Given the description of an element on the screen output the (x, y) to click on. 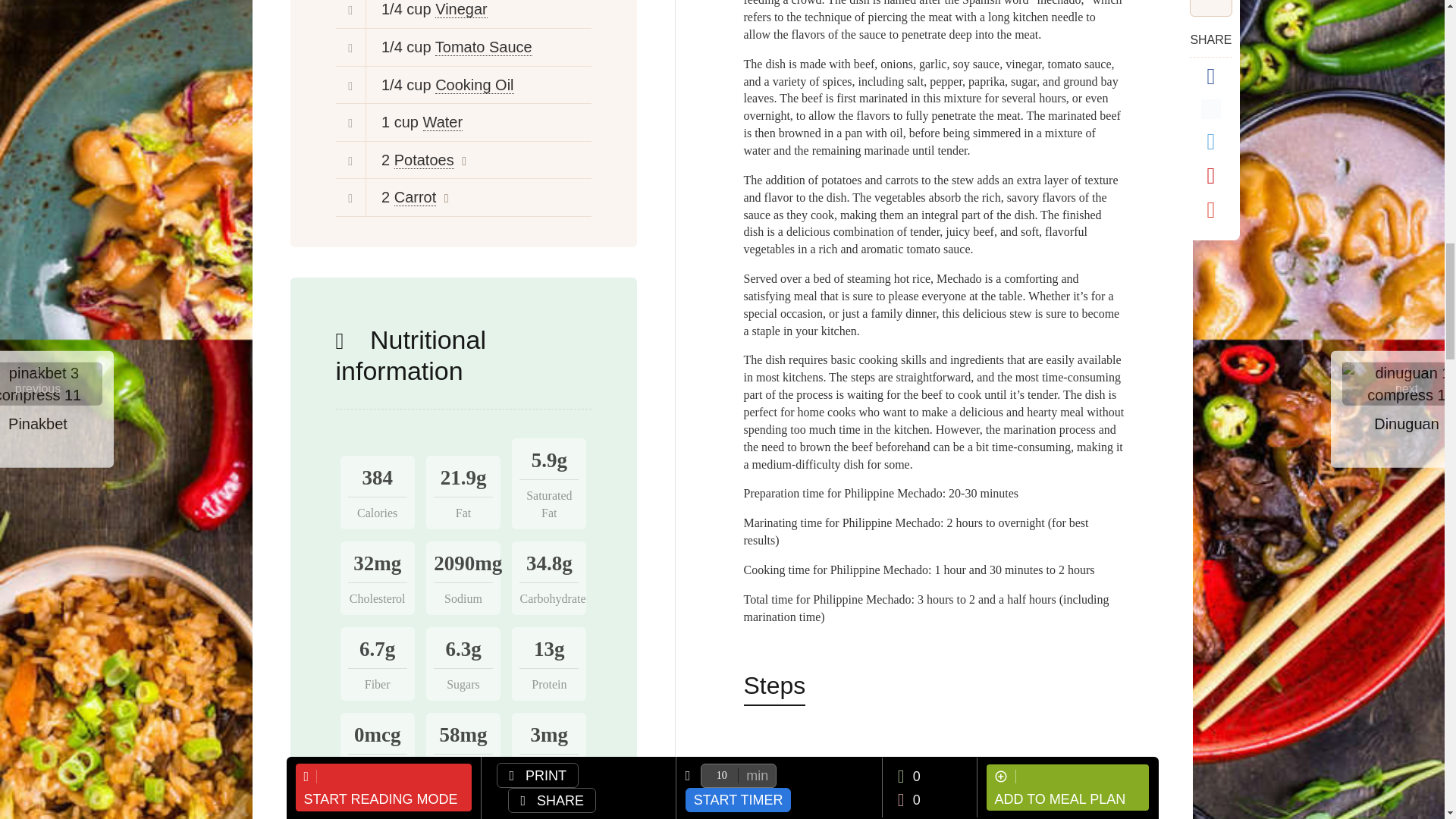
Vinegar (461, 9)
Cooking Oil (474, 85)
Tomato Sauce (483, 47)
